Given the description of an element on the screen output the (x, y) to click on. 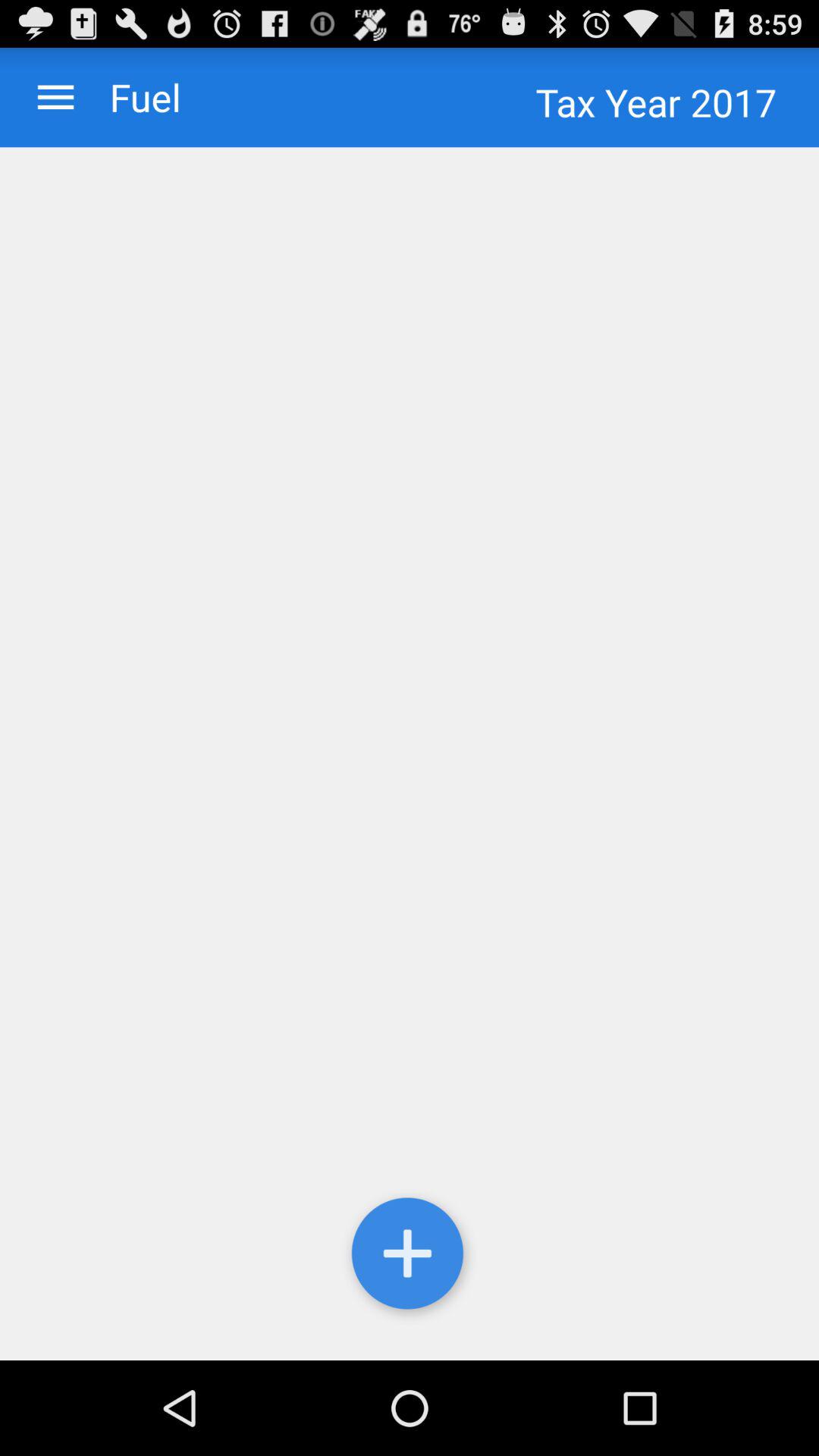
click icon to the left of the fuel app (55, 97)
